Given the description of an element on the screen output the (x, y) to click on. 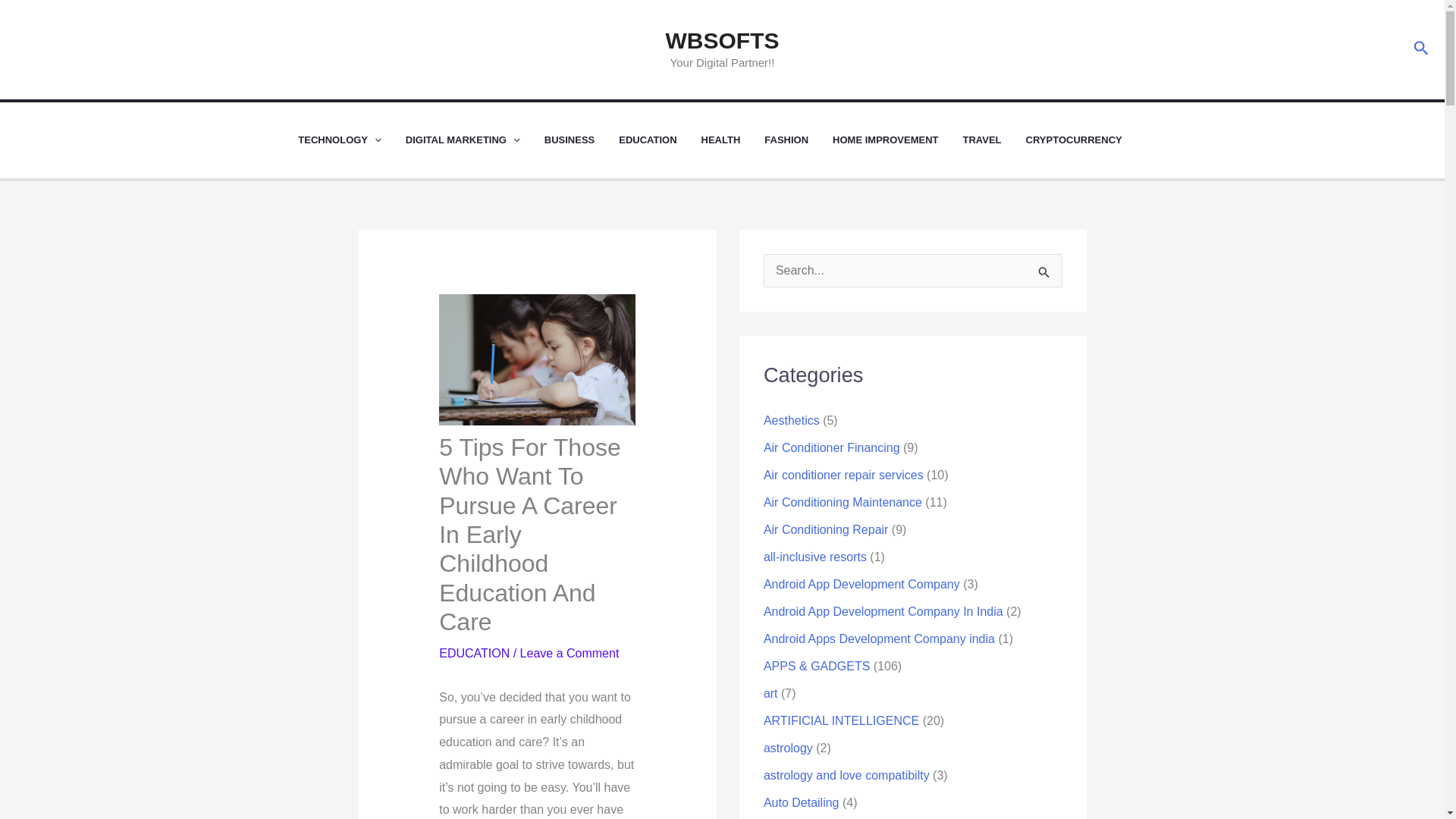
EDUCATION (659, 140)
CRYPTOCURRENCY (1086, 140)
BUSINESS (581, 140)
FASHION (798, 140)
HOME IMPROVEMENT (897, 140)
DIGITAL MARKETING (475, 140)
TECHNOLOGY (352, 140)
WBSOFTS (721, 40)
